Given the description of an element on the screen output the (x, y) to click on. 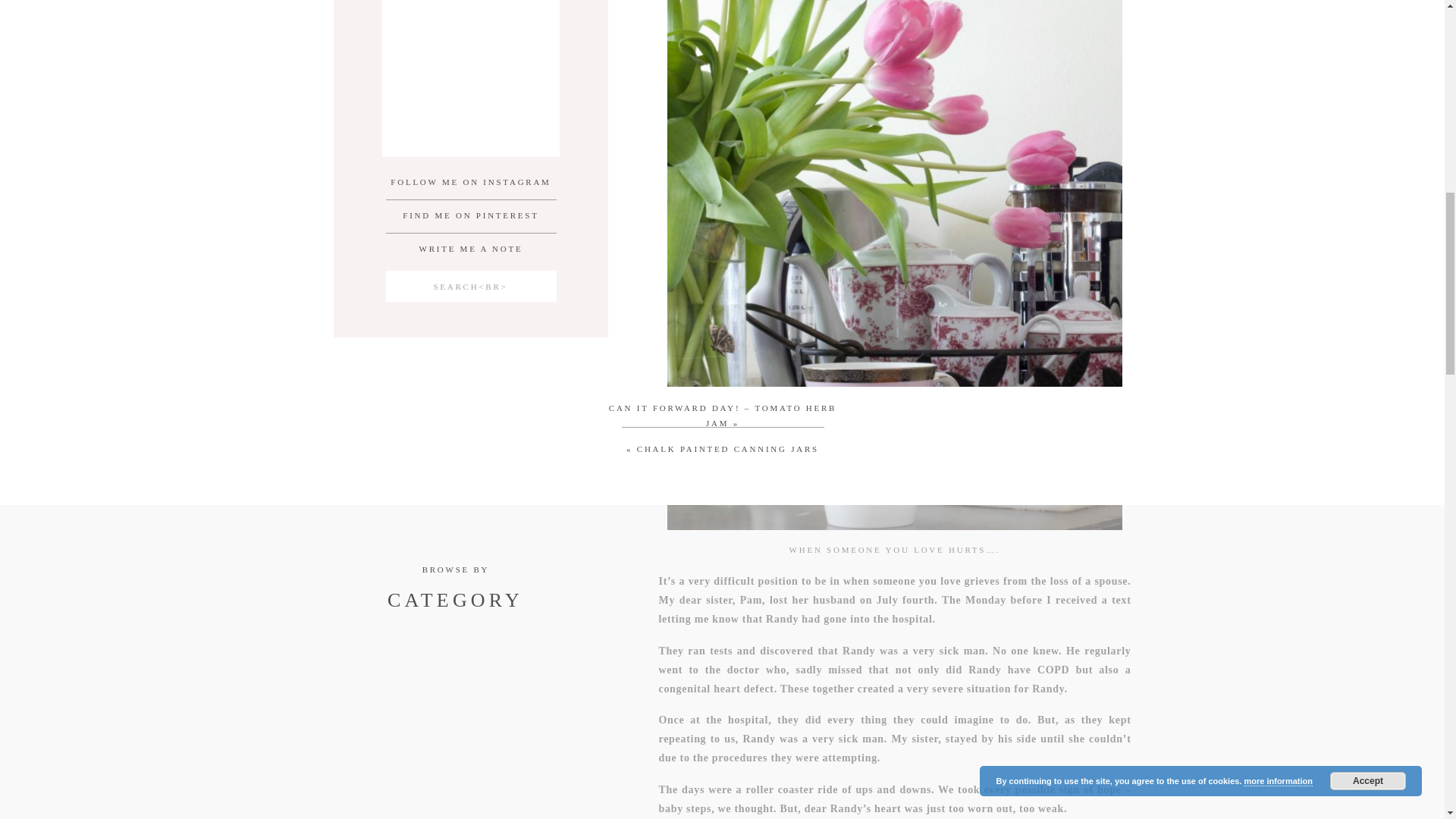
FOLLOW ME ON INSTAGRAM (469, 182)
FIND ME ON PINTEREST (469, 216)
CHALK PAINTED CANNING JARS (727, 448)
WRITE ME A NOTE (469, 249)
